Given the description of an element on the screen output the (x, y) to click on. 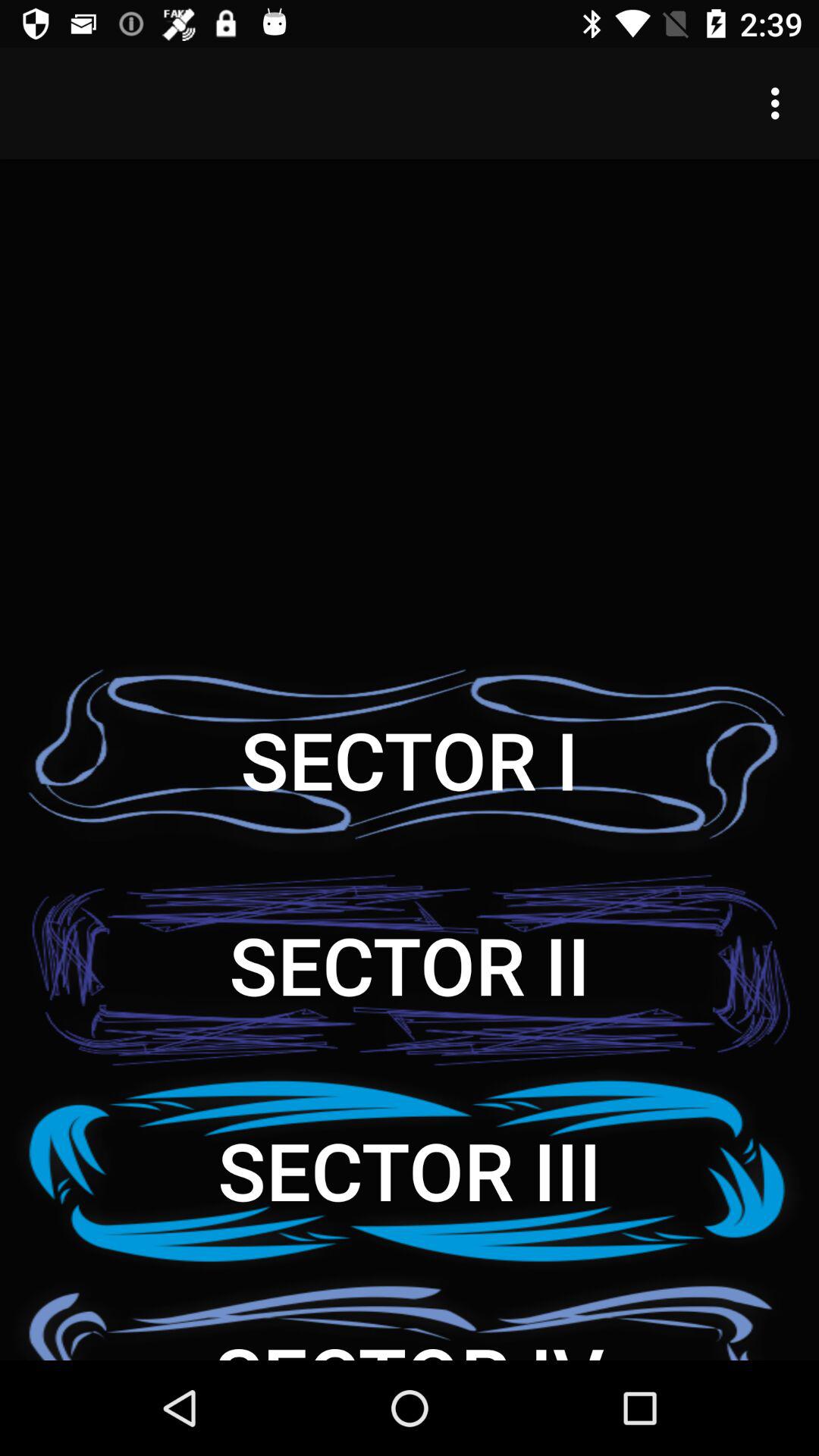
swipe until sector ii icon (409, 964)
